Given the description of an element on the screen output the (x, y) to click on. 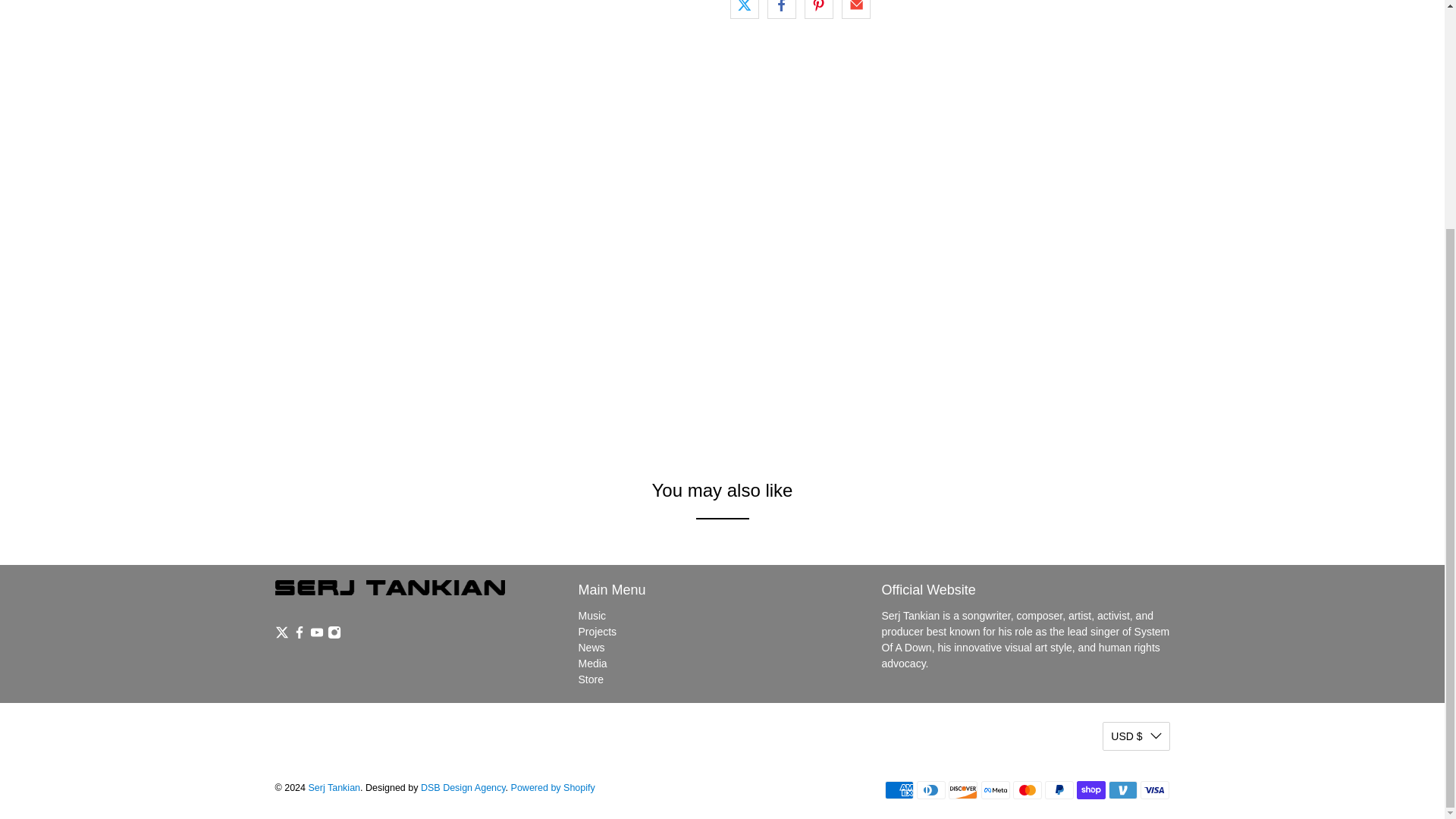
Serj Tankian on Facebook (298, 635)
Serj Tankian (390, 594)
Serj Tankian on Twitter (281, 635)
Diners Club (930, 790)
Share this on Twitter (743, 9)
Share this on Facebook (781, 9)
Discover (962, 790)
Email this to a friend (855, 9)
Serj Tankian on Instagram (333, 635)
Serj Tankian on YouTube (315, 635)
Share this on Pinterest (818, 9)
American Express (899, 790)
